Given the description of an element on the screen output the (x, y) to click on. 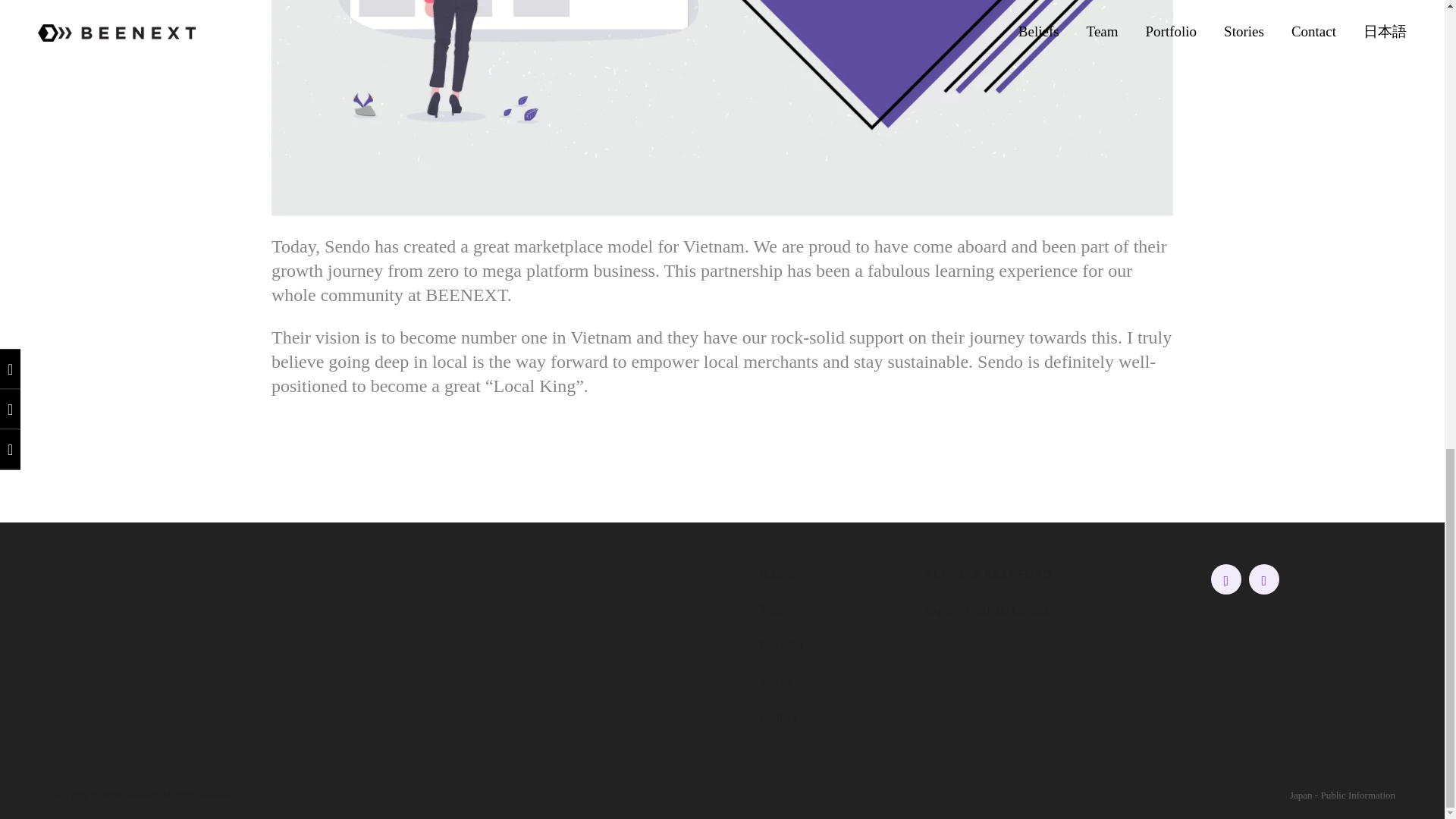
Stories (775, 680)
Japan - Public Information (1342, 794)
Portfolio (780, 645)
Beliefs (775, 574)
Team (772, 609)
Explore Portfolio Careers (986, 609)
Contact (777, 716)
ALL STAR SAAS FUND (987, 574)
